Given the description of an element on the screen output the (x, y) to click on. 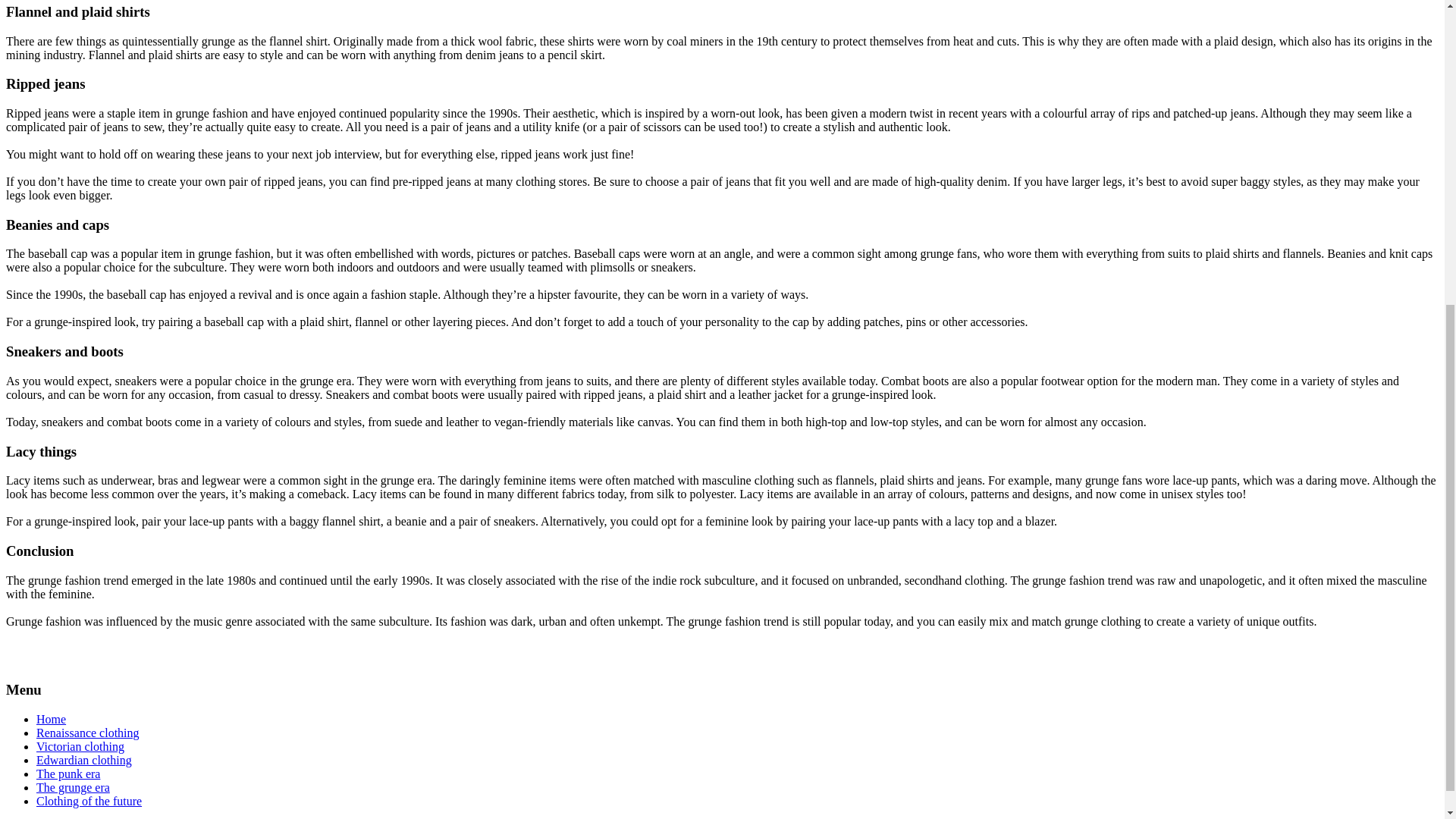
The grunge era (73, 787)
Victorian clothing (79, 746)
Clothing of the future (88, 800)
Renaissance clothing (87, 732)
Edwardian clothing (84, 759)
The punk era (68, 773)
Home (50, 718)
